Given the description of an element on the screen output the (x, y) to click on. 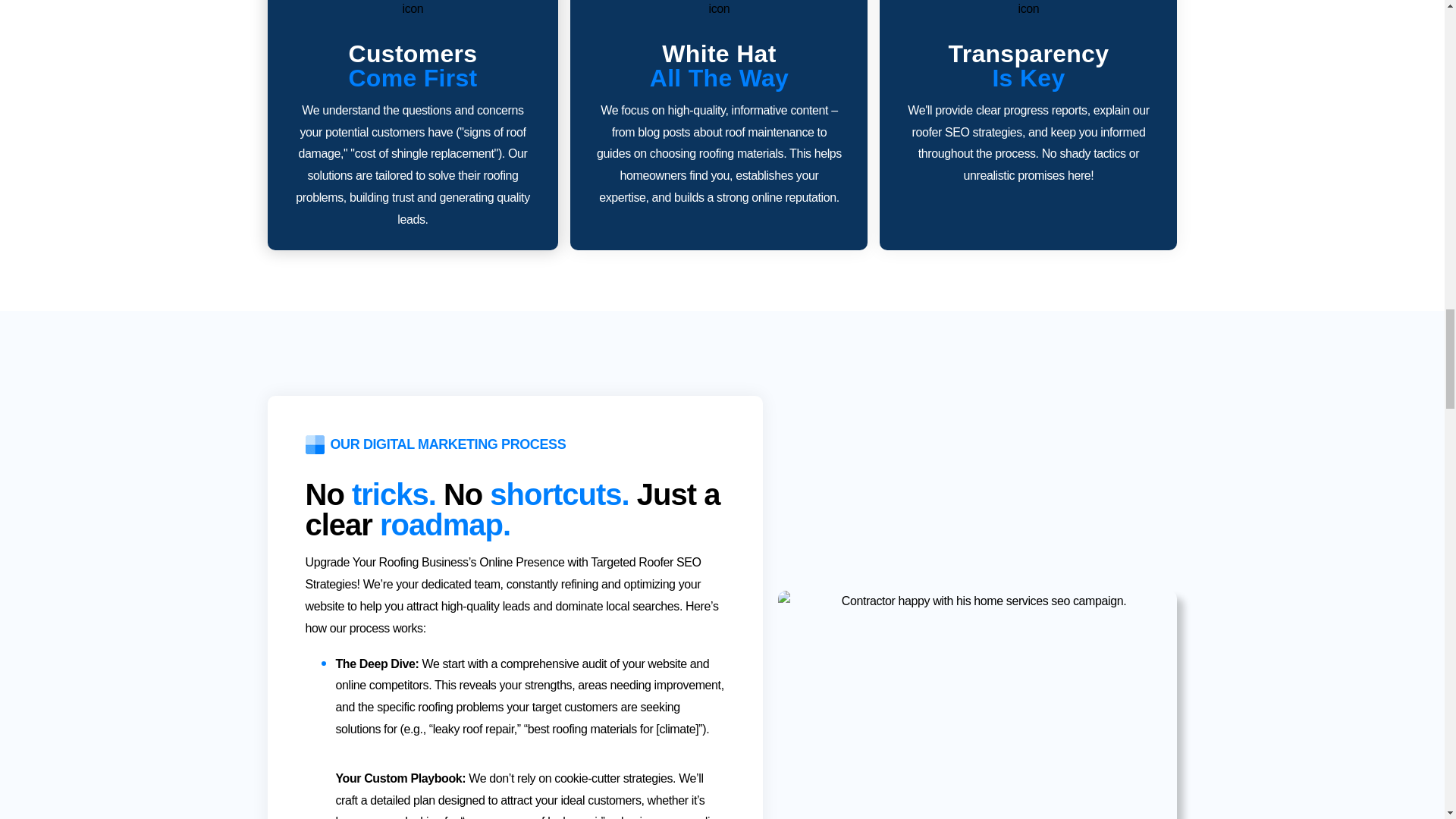
Roofer SEO Agency (412, 8)
plaid-blue-icon-xsmall (313, 444)
Roofer SEO Agency (1028, 8)
Roofer SEO Agency (718, 8)
